Given the description of an element on the screen output the (x, y) to click on. 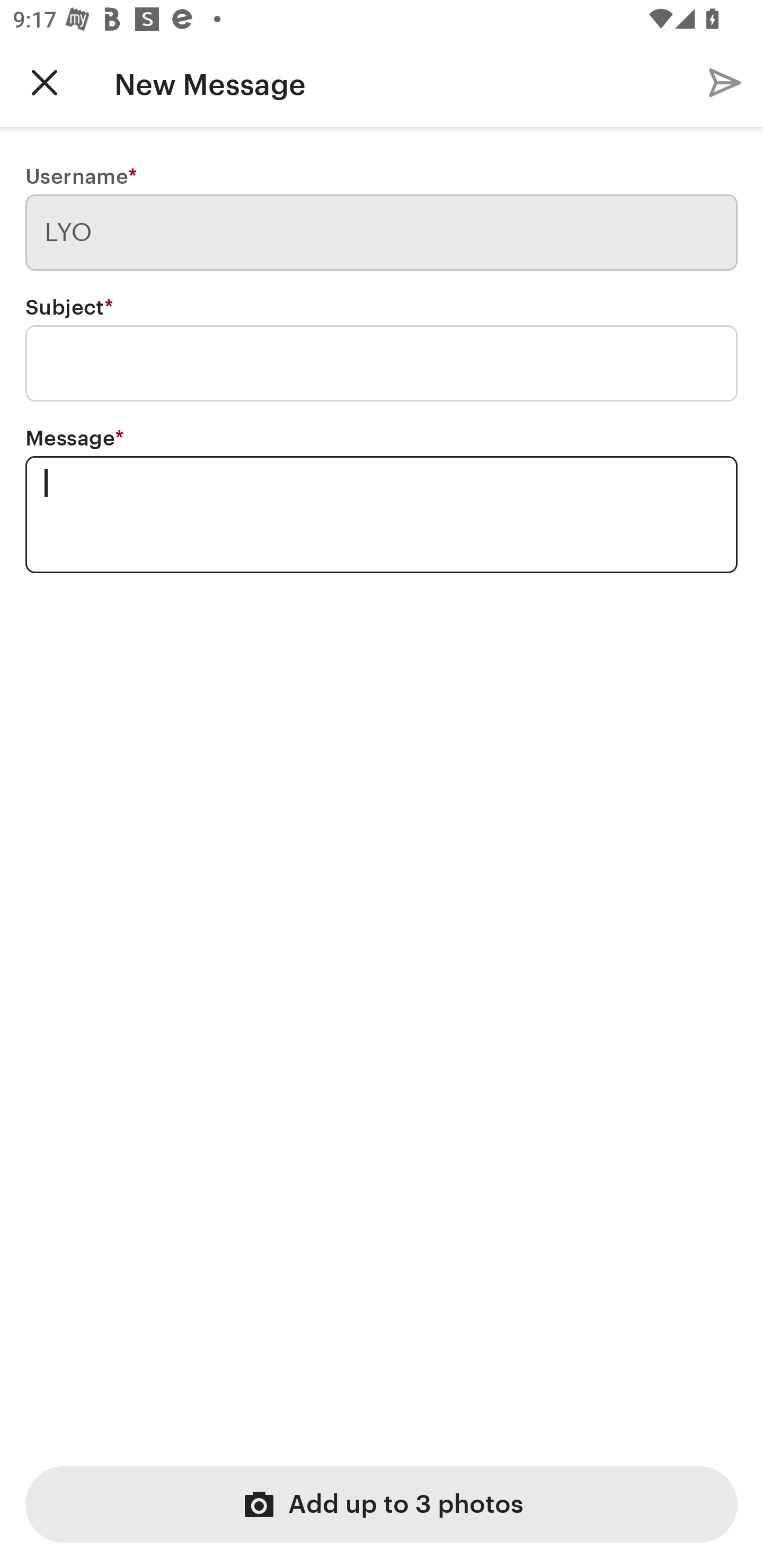
Close (44, 82)
Send (724, 81)
LYO (381, 232)
Add up to 3 photos (381, 1504)
